Given the description of an element on the screen output the (x, y) to click on. 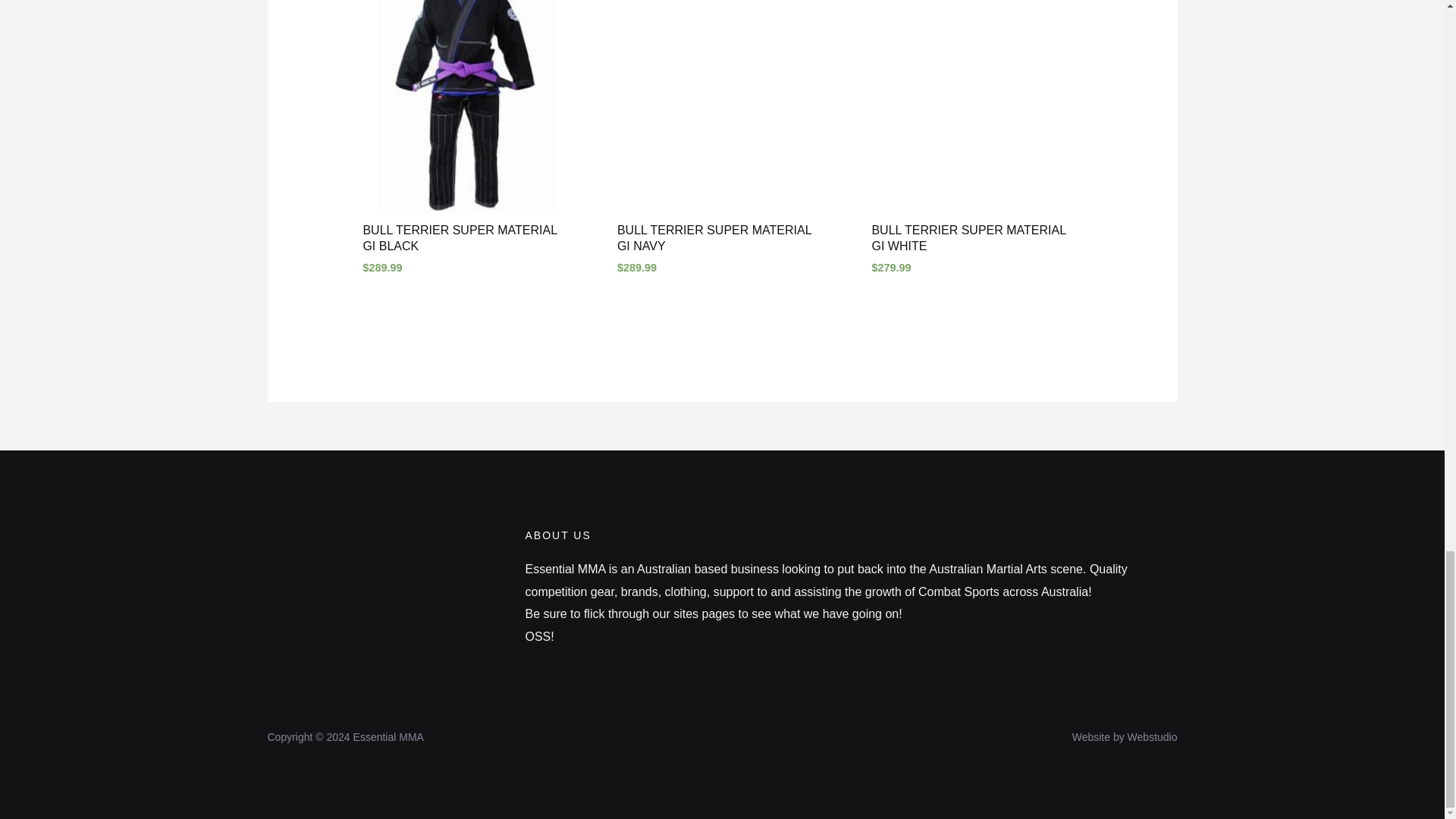
BULL TERRIER SUPER MATERIAL GI BLACK (467, 241)
BULL TERRIER SUPER MATERIAL GI NAVY (722, 241)
